Given the description of an element on the screen output the (x, y) to click on. 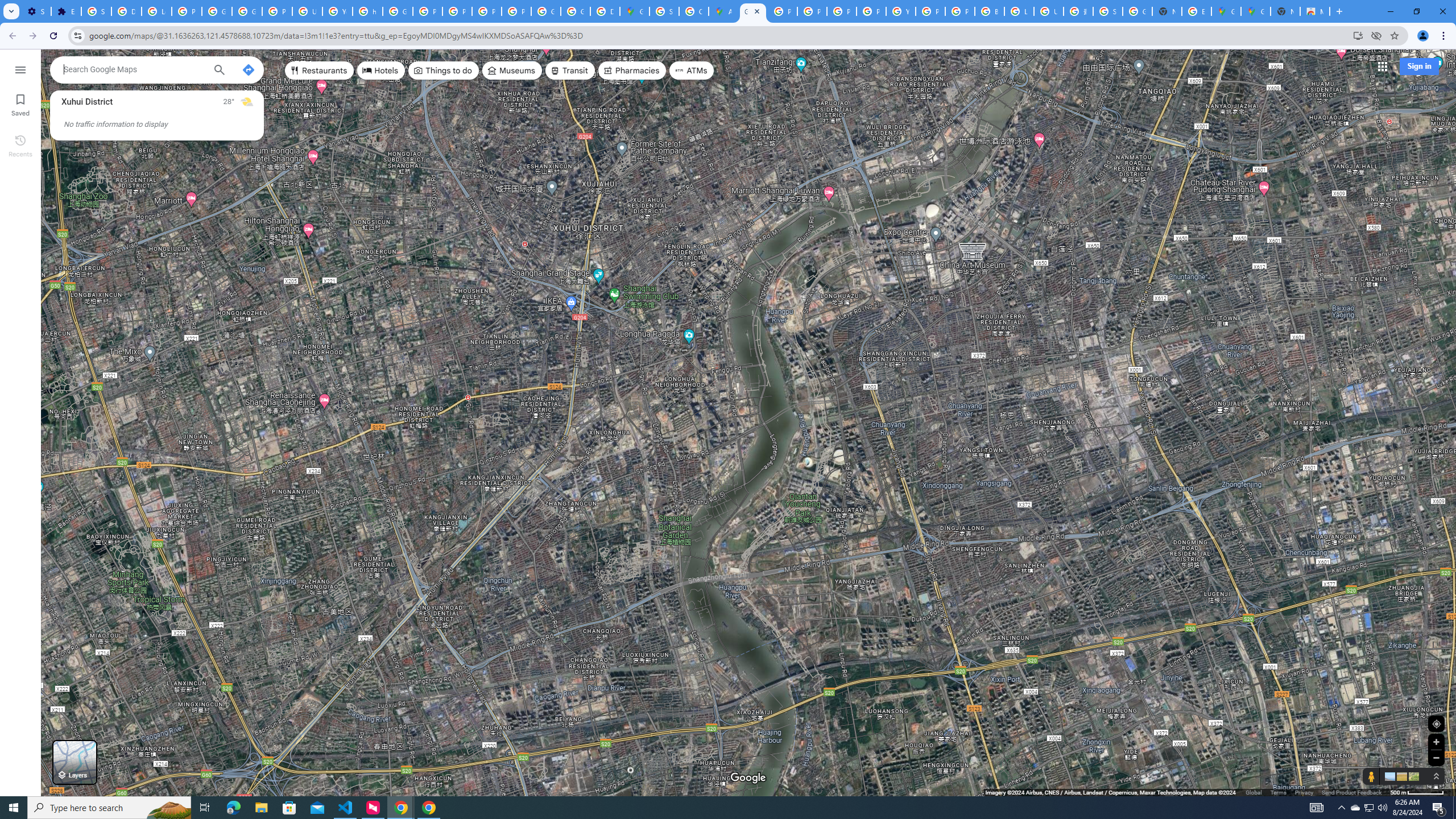
Global (1253, 792)
Show Street View coverage (1371, 776)
Settings - On startup (36, 11)
Mostly sunny (246, 101)
Zoom out (1436, 757)
Privacy Help Center - Policies Help (811, 11)
Send Product Feedback (1351, 792)
Sign in - Google Accounts (1107, 11)
